Given the description of an element on the screen output the (x, y) to click on. 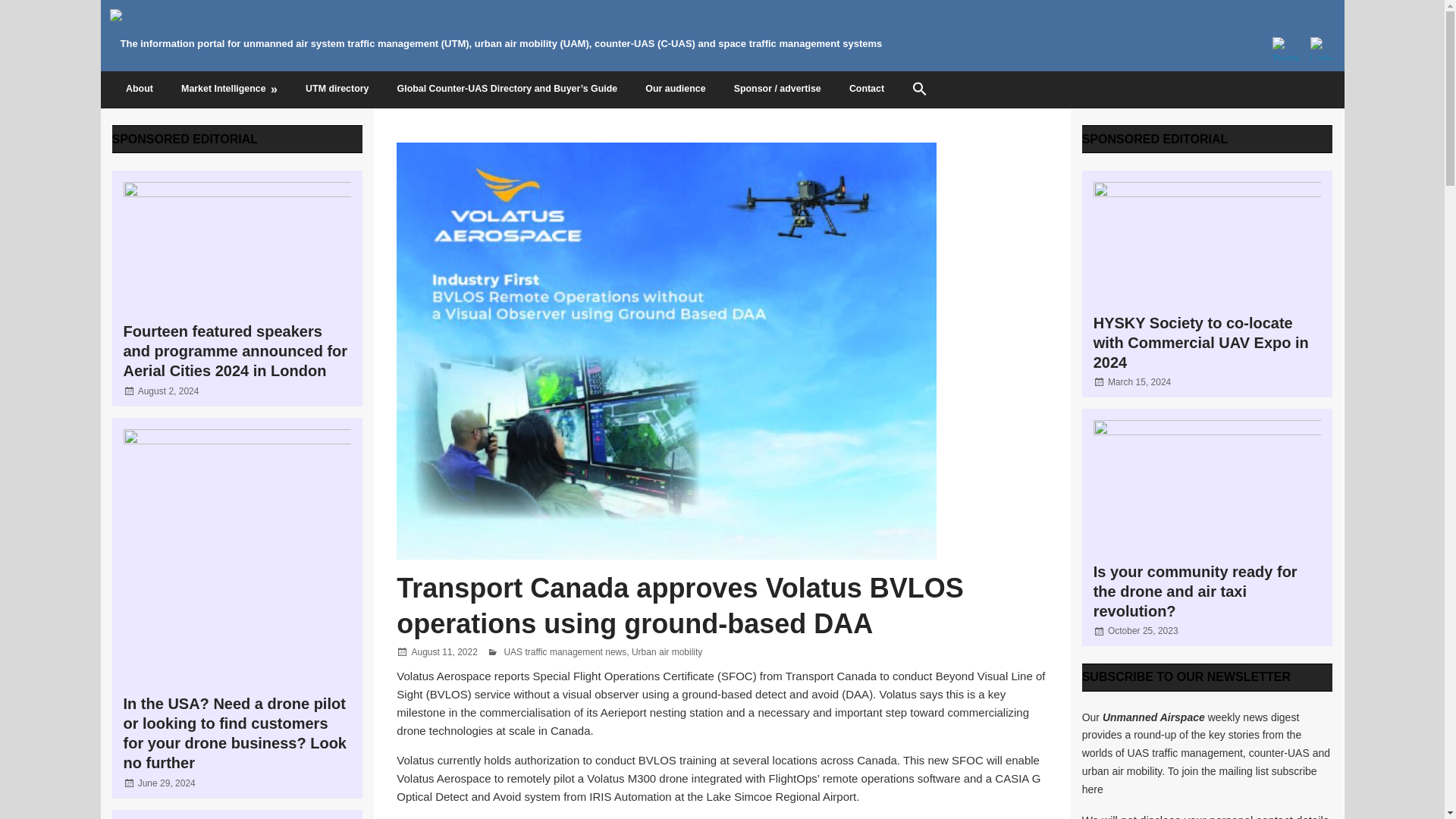
August 2, 2024 (168, 390)
Jenny Beechener (538, 652)
UTM directory (338, 89)
June 29, 2024 (166, 783)
August 11, 2022 (443, 652)
11:31 am (166, 783)
View all posts from category Sponsored editorial 1 (185, 138)
9:00 am (1142, 630)
2:01 pm (168, 390)
